Given the description of an element on the screen output the (x, y) to click on. 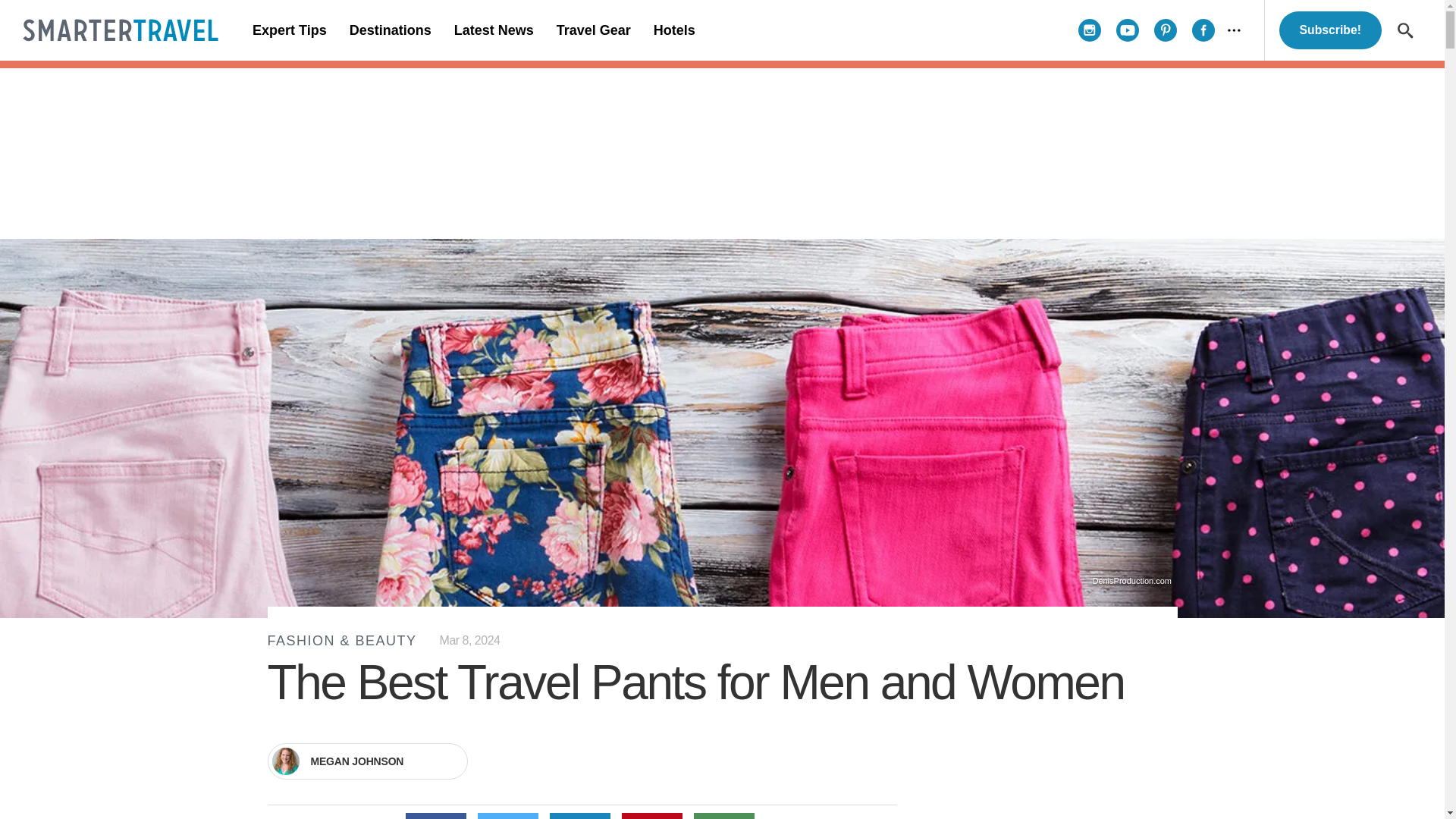
Hotels (674, 30)
Subscribe! (1330, 30)
Destinations (389, 30)
Latest News (493, 30)
Expert Tips (289, 30)
Travel Gear (593, 30)
